Given the description of an element on the screen output the (x, y) to click on. 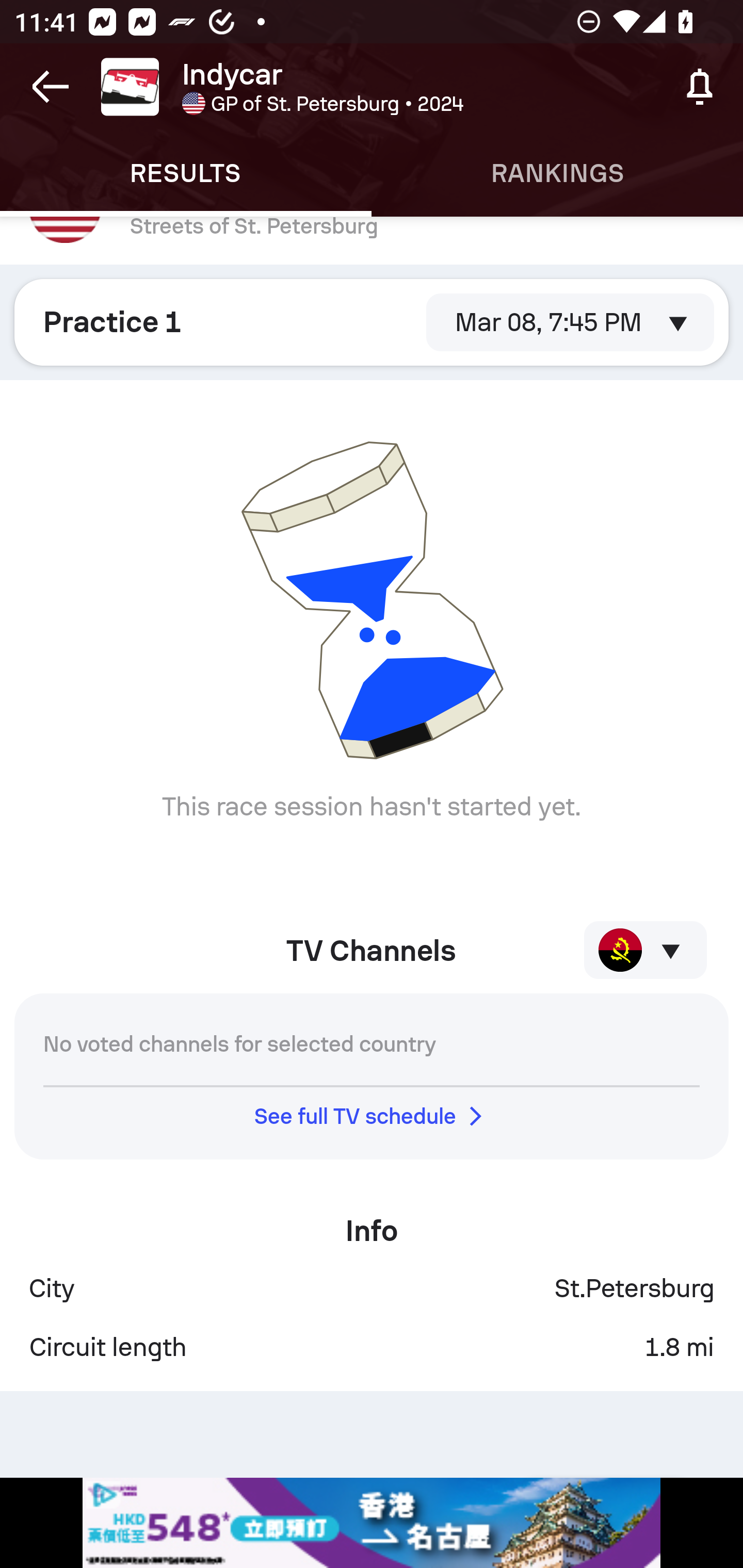
Navigate up (50, 86)
Rankings RANKINGS (557, 173)
Practice 1 Mar 08, 7:45 PM (371, 322)
Mar 08, 7:45 PM (570, 322)
See full TV schedule (371, 1115)
ysfecx5i_320x50 (371, 1522)
